Given the description of an element on the screen output the (x, y) to click on. 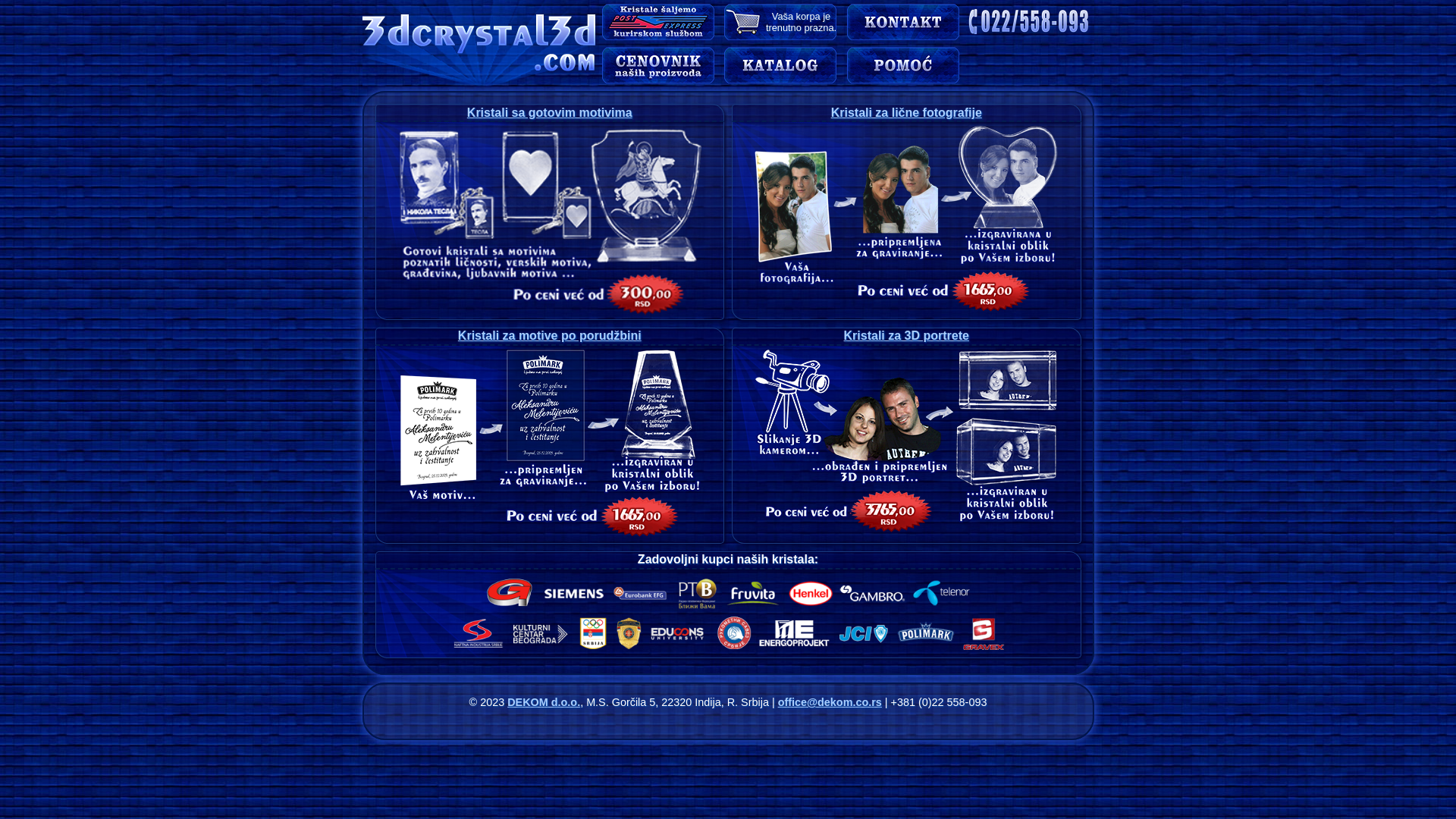
DEKOM d.o.o. Element type: text (543, 702)
Kristali za 3D portrete Element type: text (906, 335)
office@dekom.co.rs Element type: text (829, 702)
Kristali sa gotovim motivima Element type: text (549, 112)
